Given the description of an element on the screen output the (x, y) to click on. 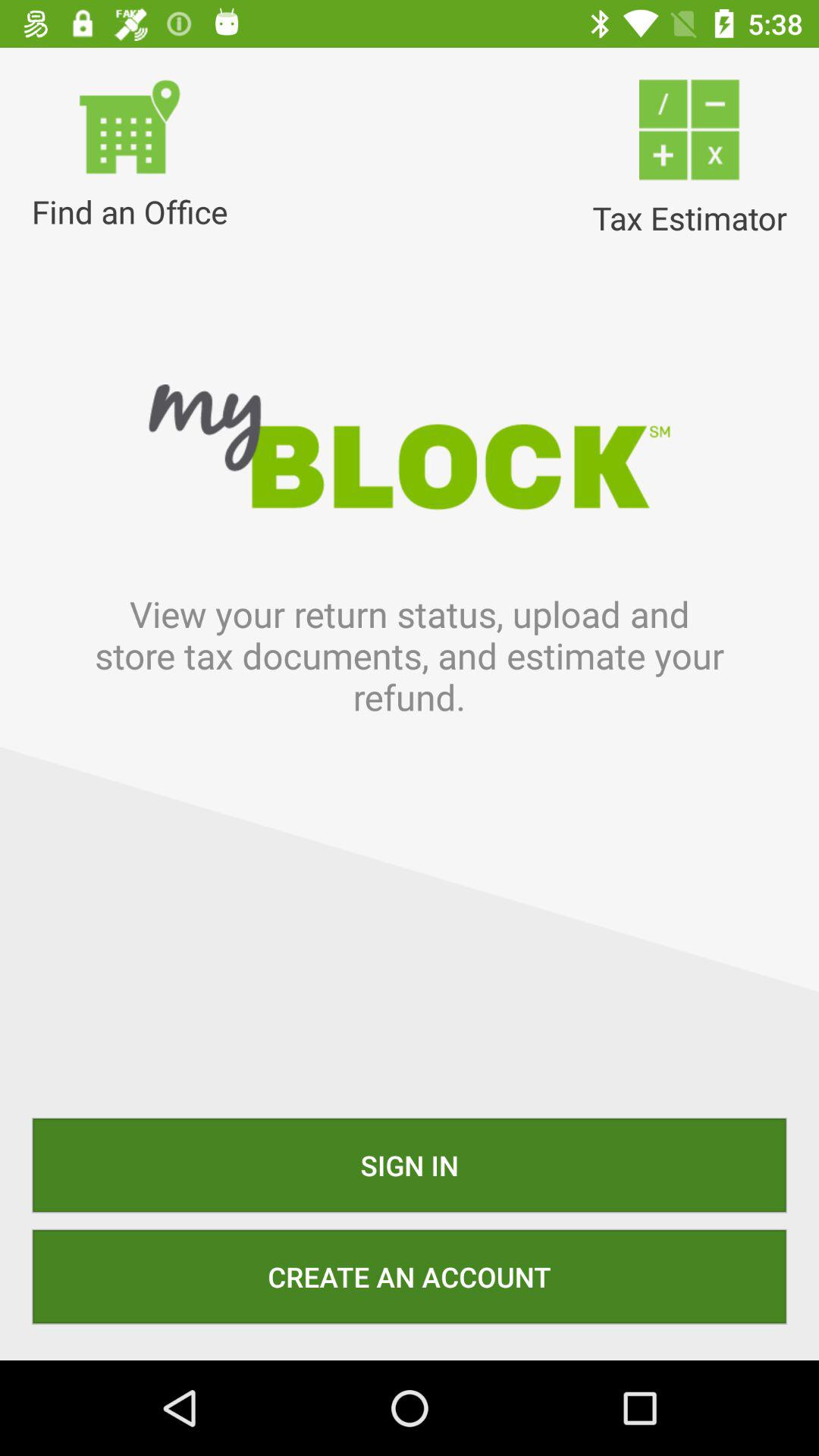
click item below the sign in (409, 1276)
